Given the description of an element on the screen output the (x, y) to click on. 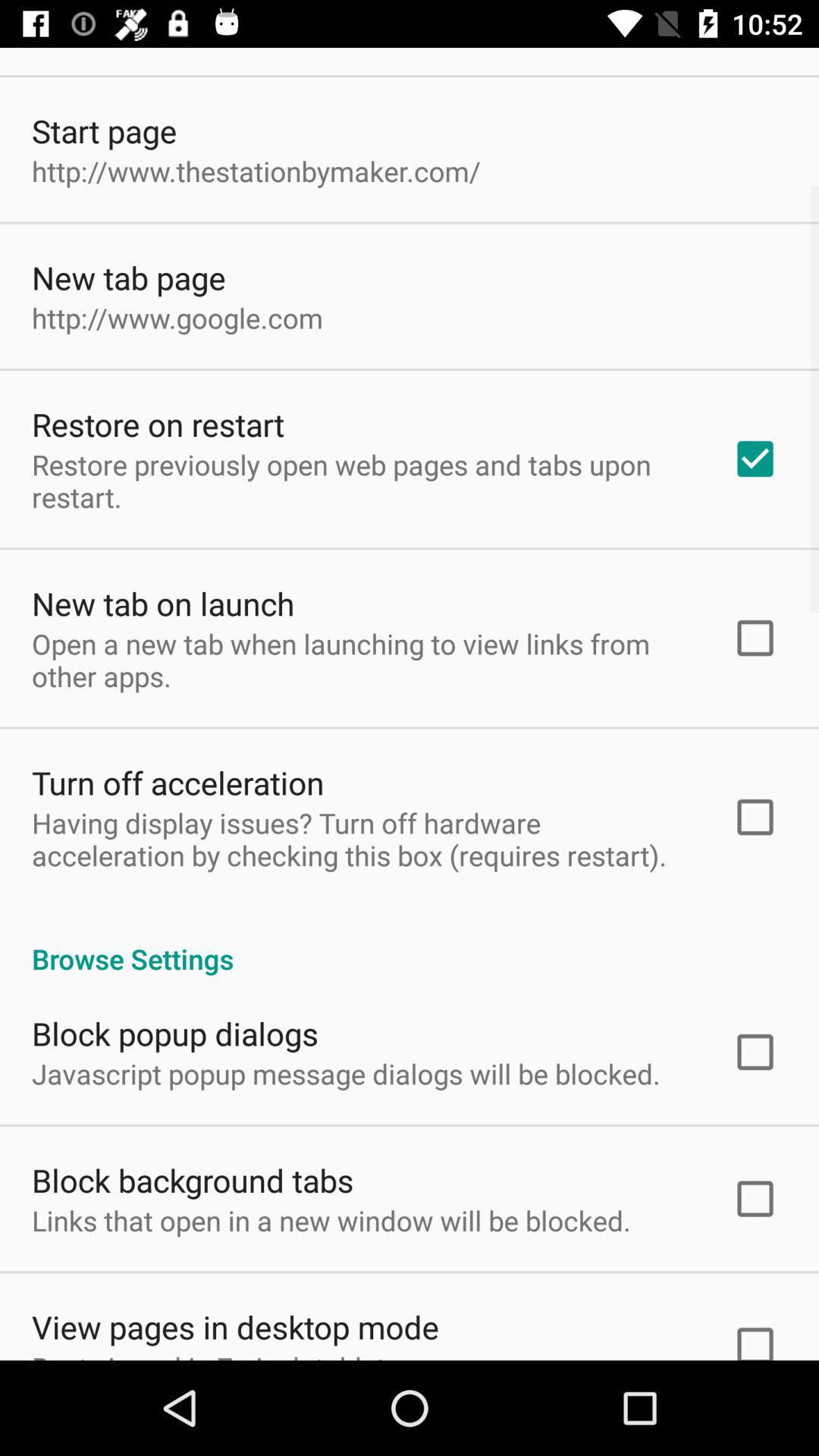
scroll until the browse settings app (409, 942)
